Given the description of an element on the screen output the (x, y) to click on. 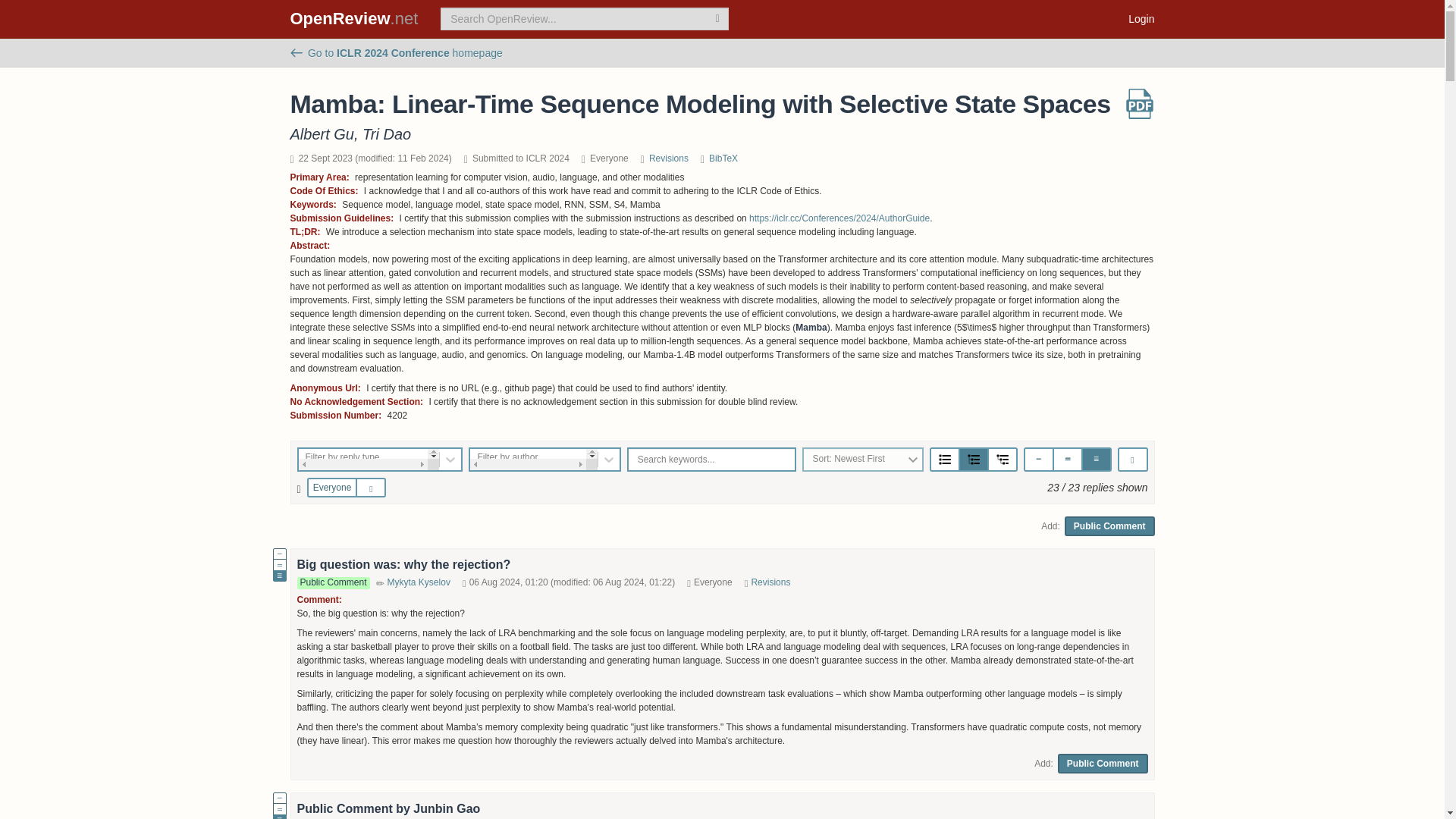
BibTeX (723, 158)
reset (373, 488)
OpenReview.net (354, 18)
Threaded discussion layout (973, 459)
Copy link (1133, 459)
Mykyta Kyselov (418, 582)
Revisions (770, 582)
Login (1141, 18)
Albert Gu (321, 134)
Public Comment (1103, 763)
